Given the description of an element on the screen output the (x, y) to click on. 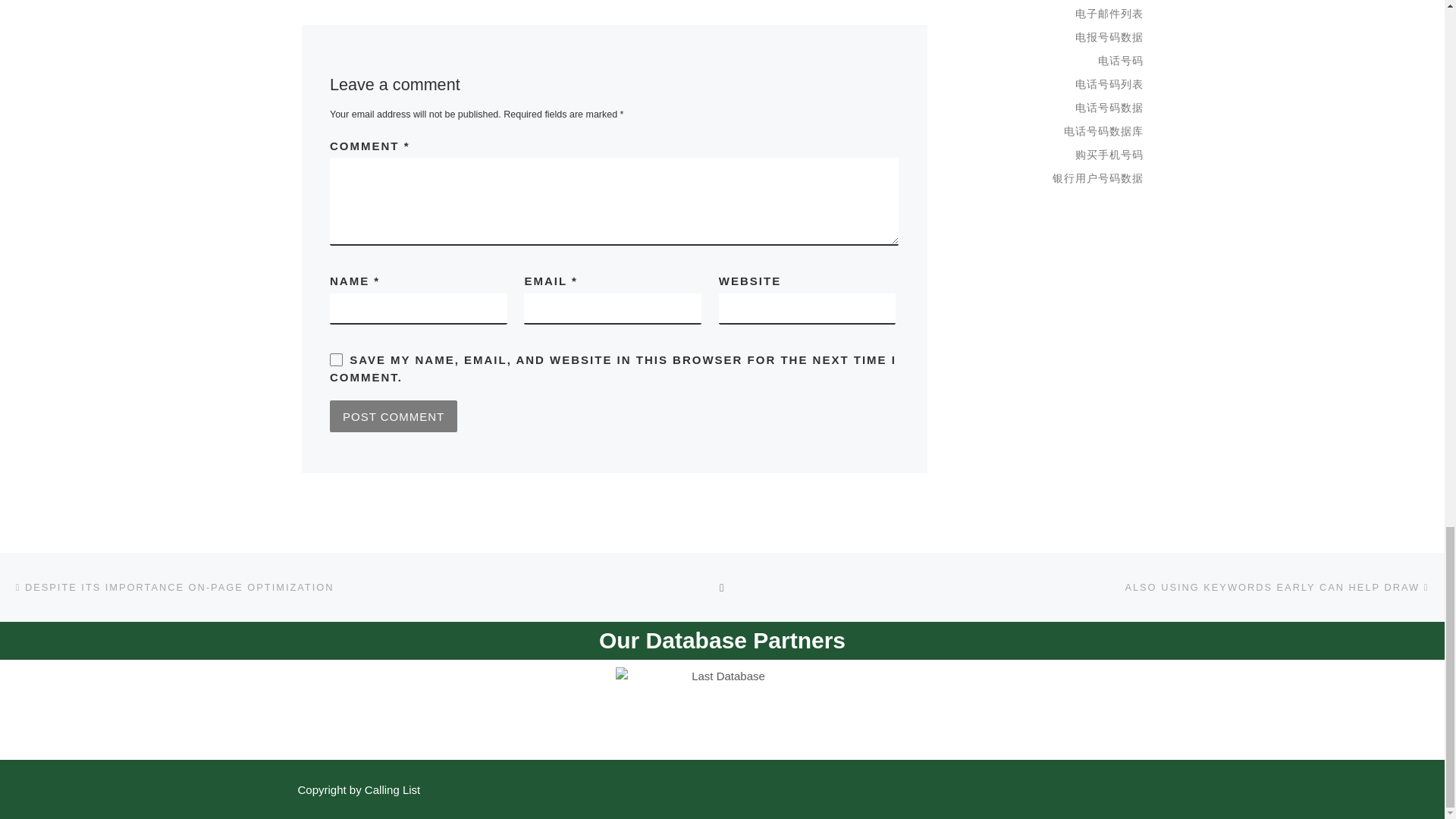
yes (336, 359)
Post Comment (393, 416)
